Given the description of an element on the screen output the (x, y) to click on. 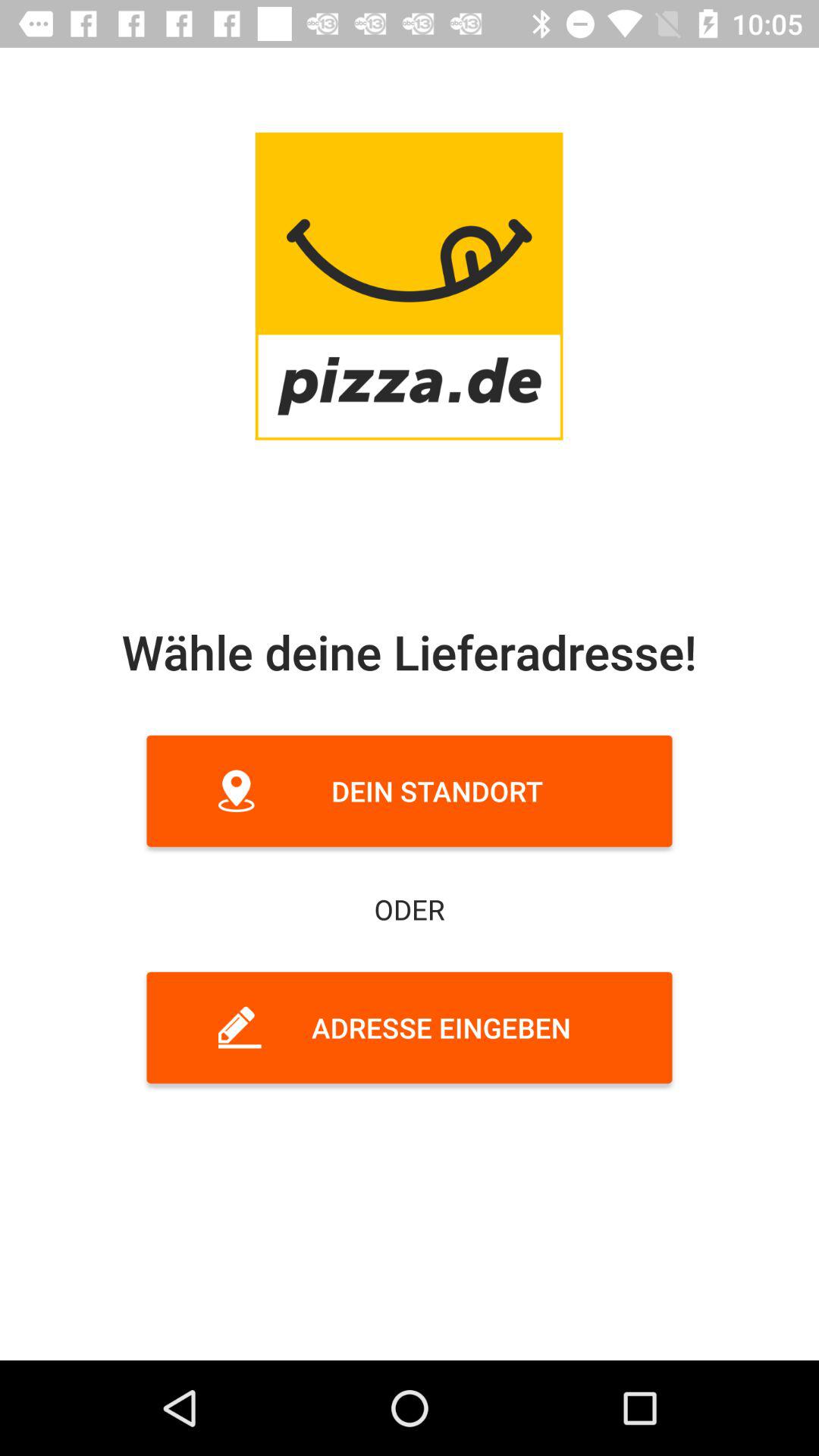
open adresse eingeben (409, 1027)
